Given the description of an element on the screen output the (x, y) to click on. 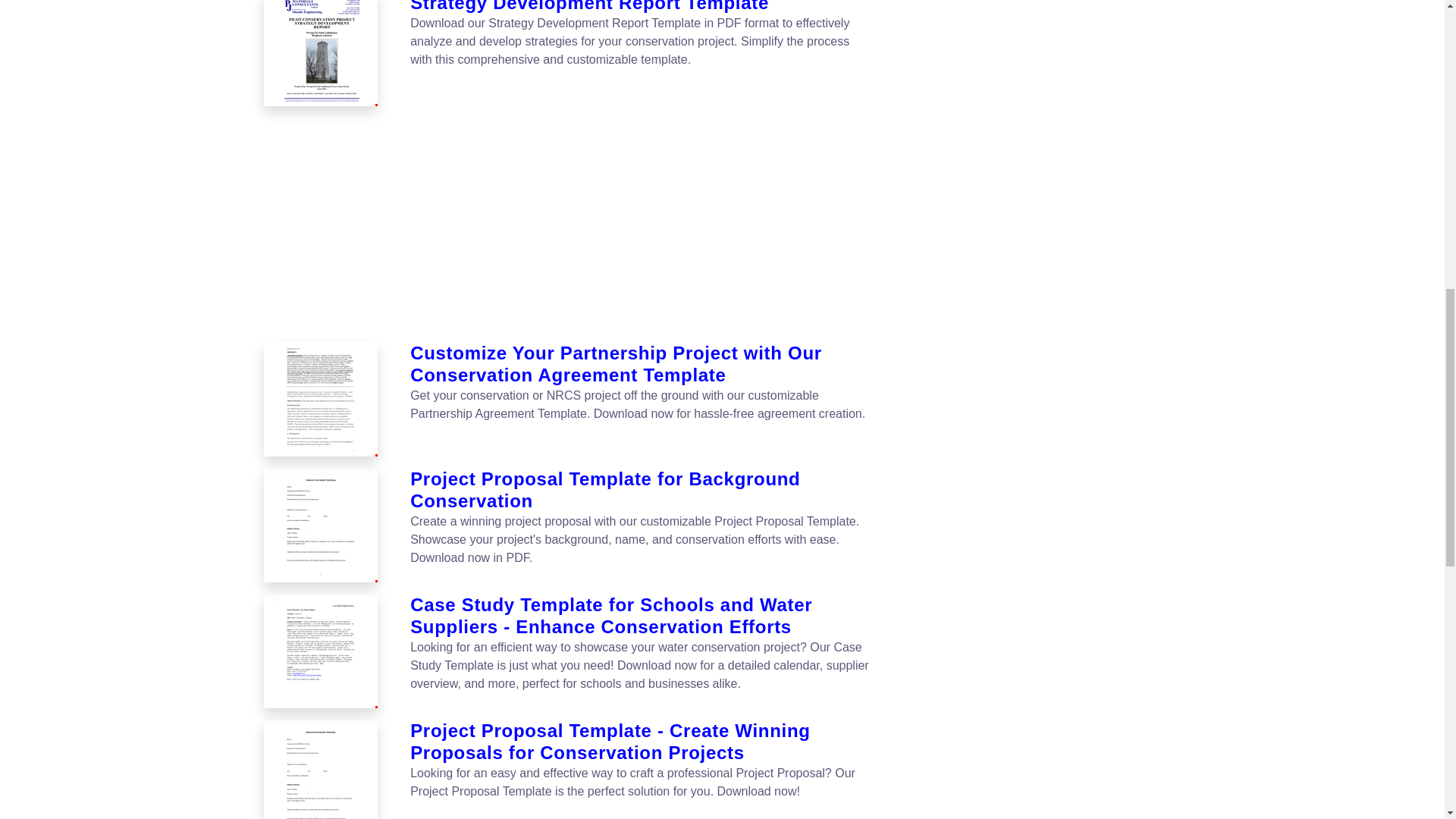
Strategy Development Report Template (320, 53)
Strategy Development Report Template (321, 53)
Project Proposal Template for Background Conservation (641, 490)
Strategy Development Report Template (641, 7)
